Given the description of an element on the screen output the (x, y) to click on. 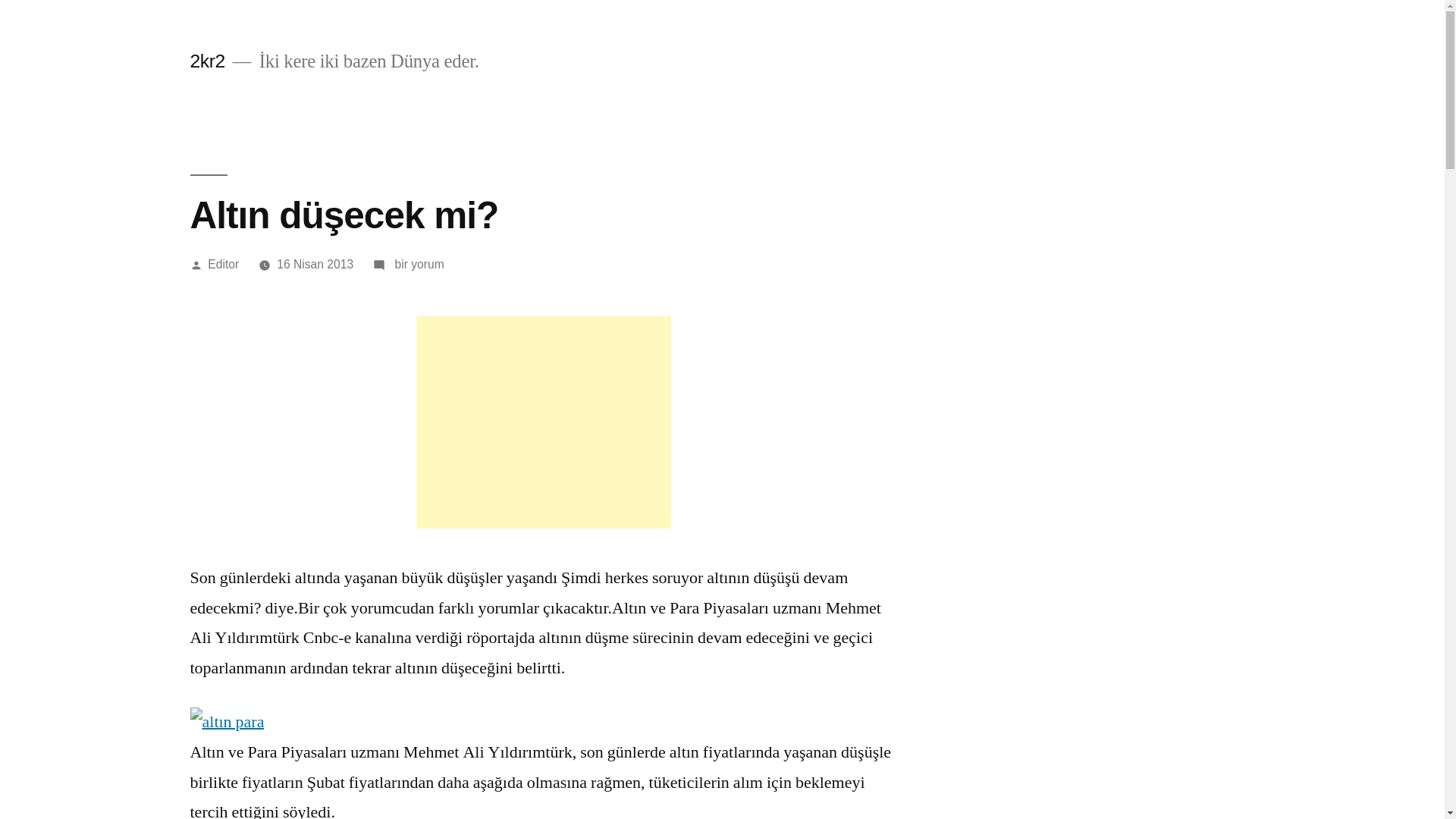
2kr2 Element type: text (206, 60)
16 Nisan 2013 Element type: text (314, 263)
Editor Element type: text (222, 263)
Advertisement Element type: hover (542, 422)
